Given the description of an element on the screen output the (x, y) to click on. 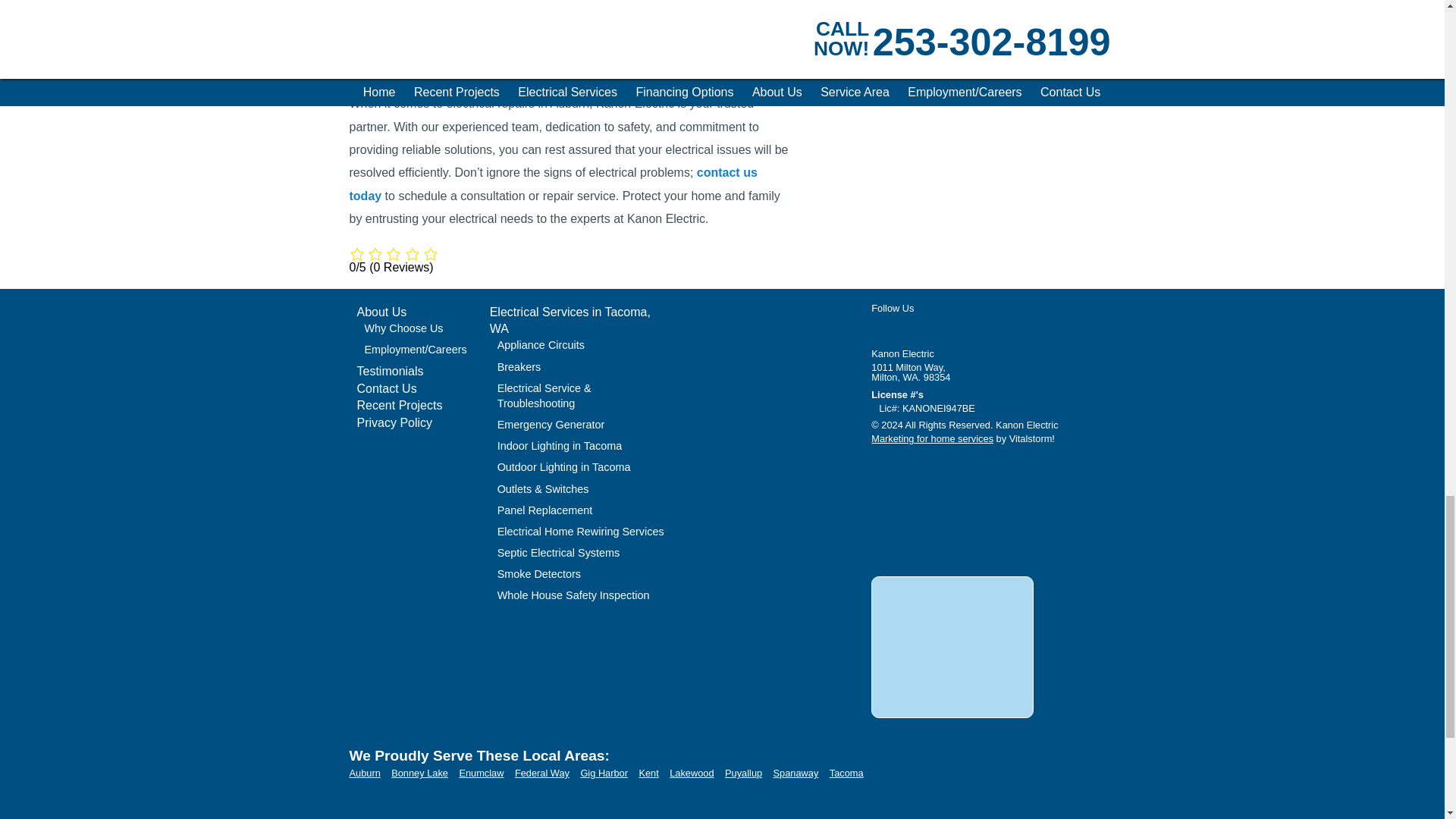
review us (984, 517)
